Given the description of an element on the screen output the (x, y) to click on. 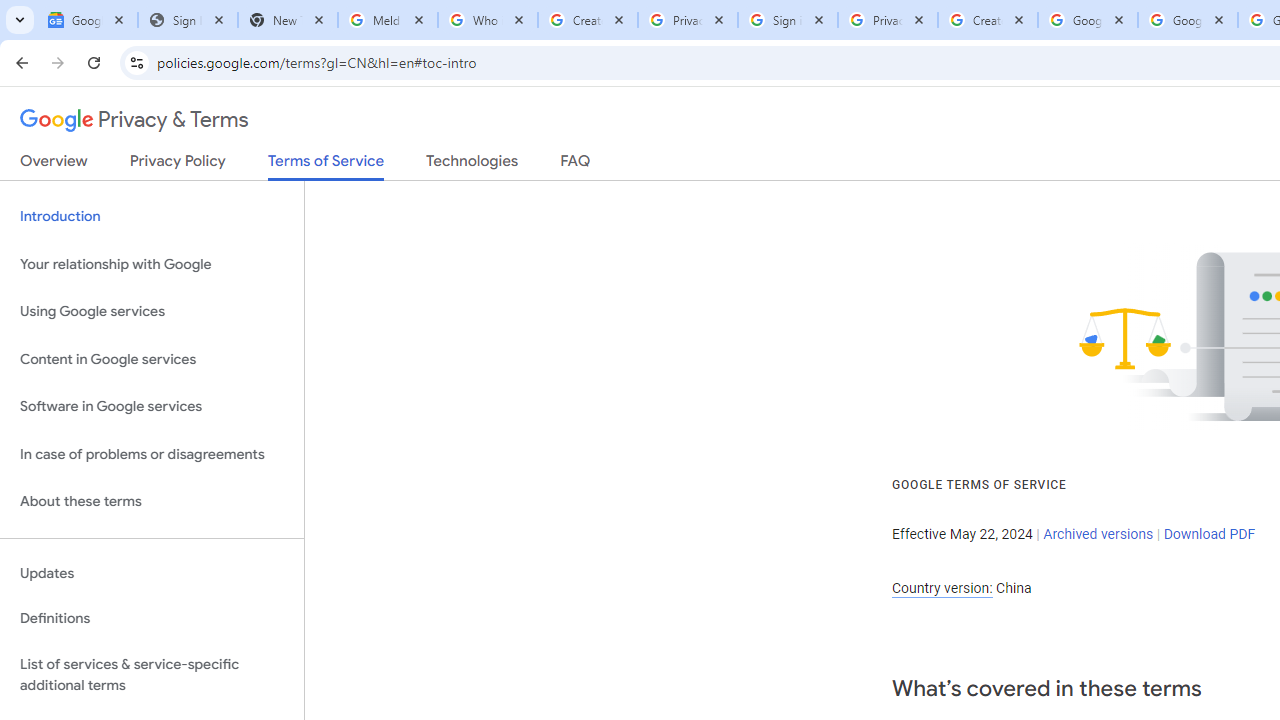
New Tab (287, 20)
Your relationship with Google (152, 263)
About these terms (152, 502)
Sign in - Google Accounts (788, 20)
Create your Google Account (988, 20)
